Given the description of an element on the screen output the (x, y) to click on. 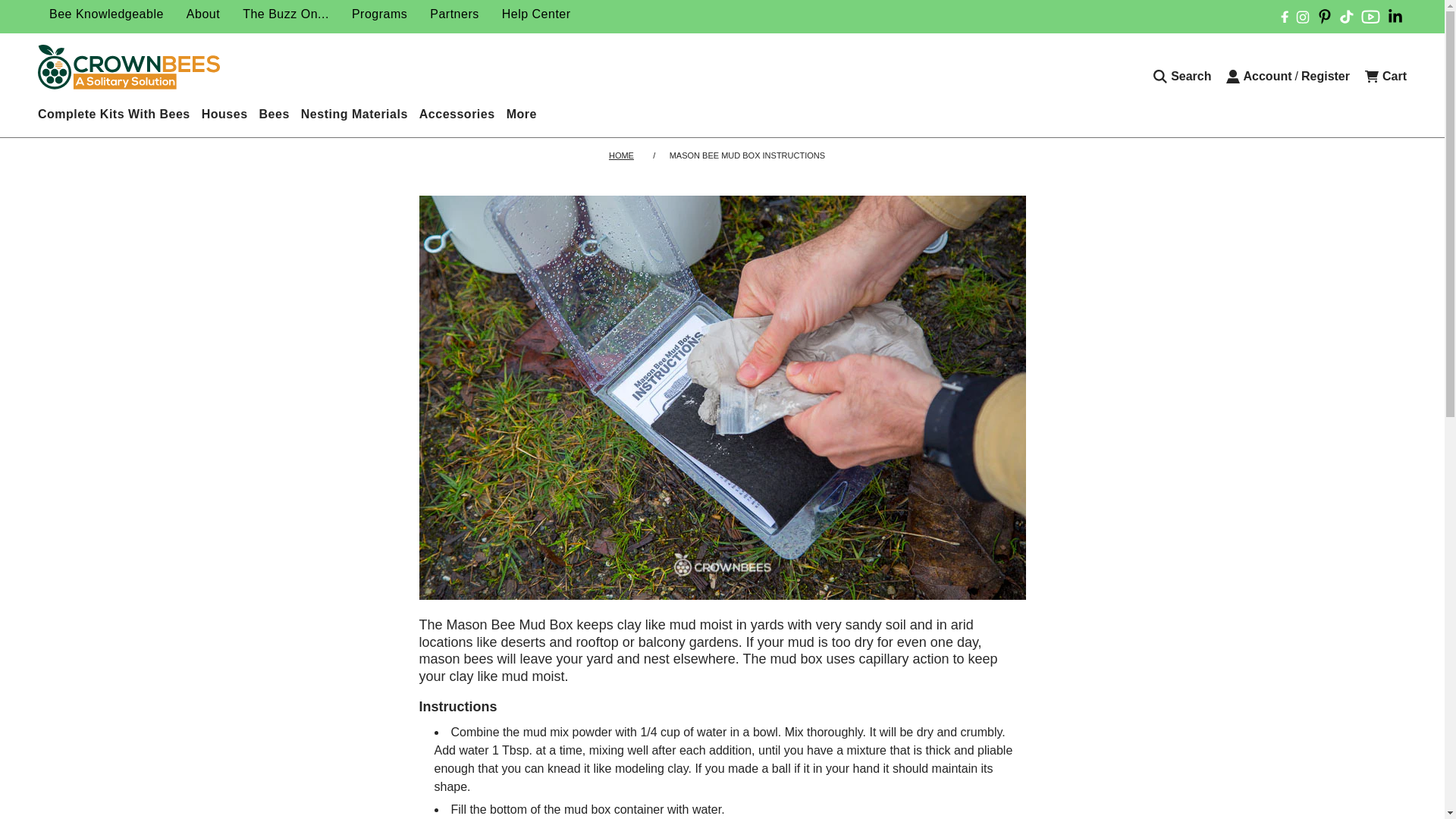
Log in (1258, 76)
Partners (454, 14)
Bee Knowledgeable (105, 14)
Programs (379, 14)
Help Center (536, 14)
Back to the frontpage (623, 155)
About (202, 14)
The Buzz On... (285, 14)
